Given the description of an element on the screen output the (x, y) to click on. 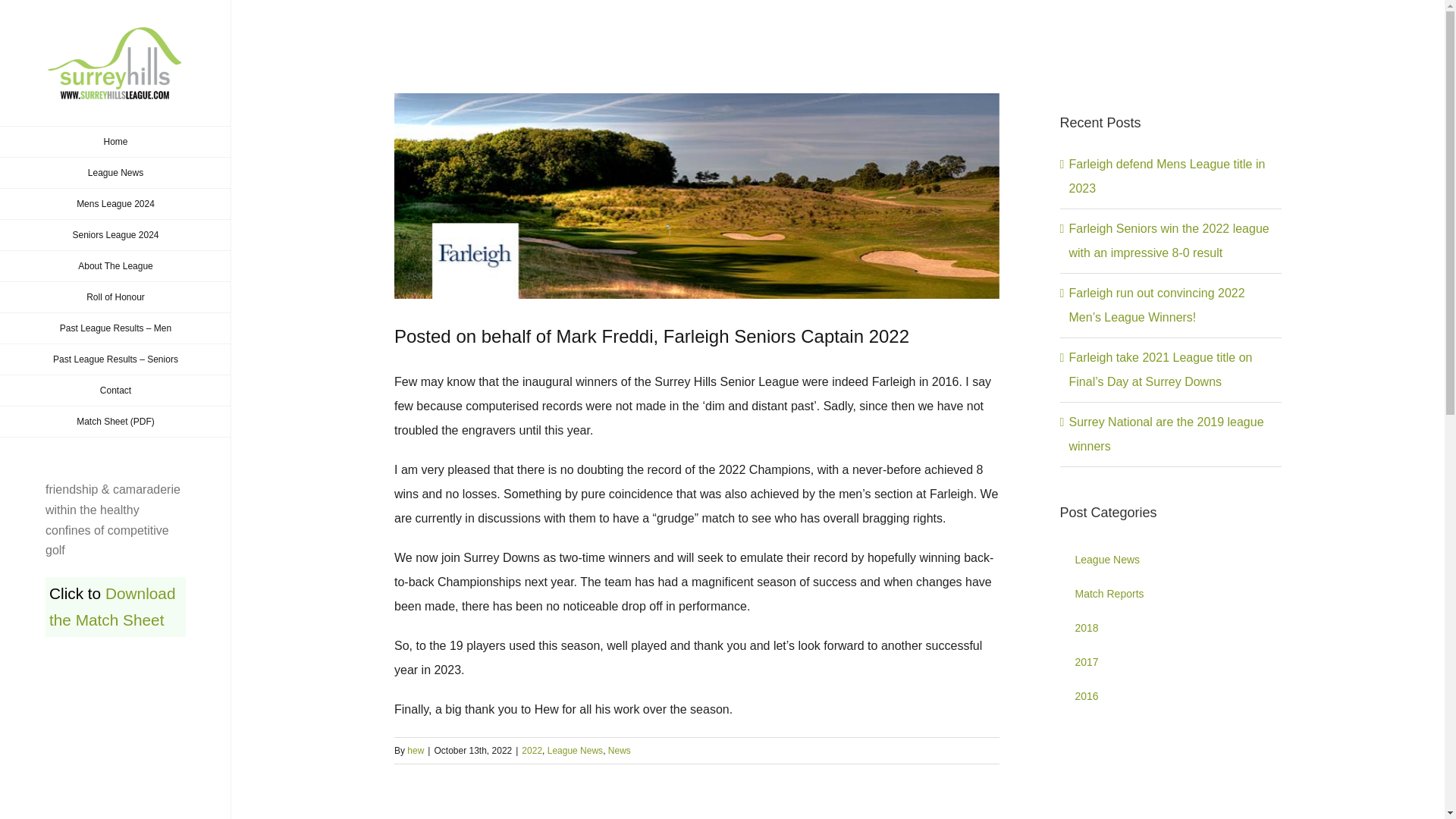
Posts by hew (415, 750)
Home (115, 142)
About The League (115, 265)
Roll of Honour (115, 296)
Contact (115, 390)
League News (115, 173)
Mens League 2024 (115, 204)
Seniors League 2024 (115, 235)
